Given the description of an element on the screen output the (x, y) to click on. 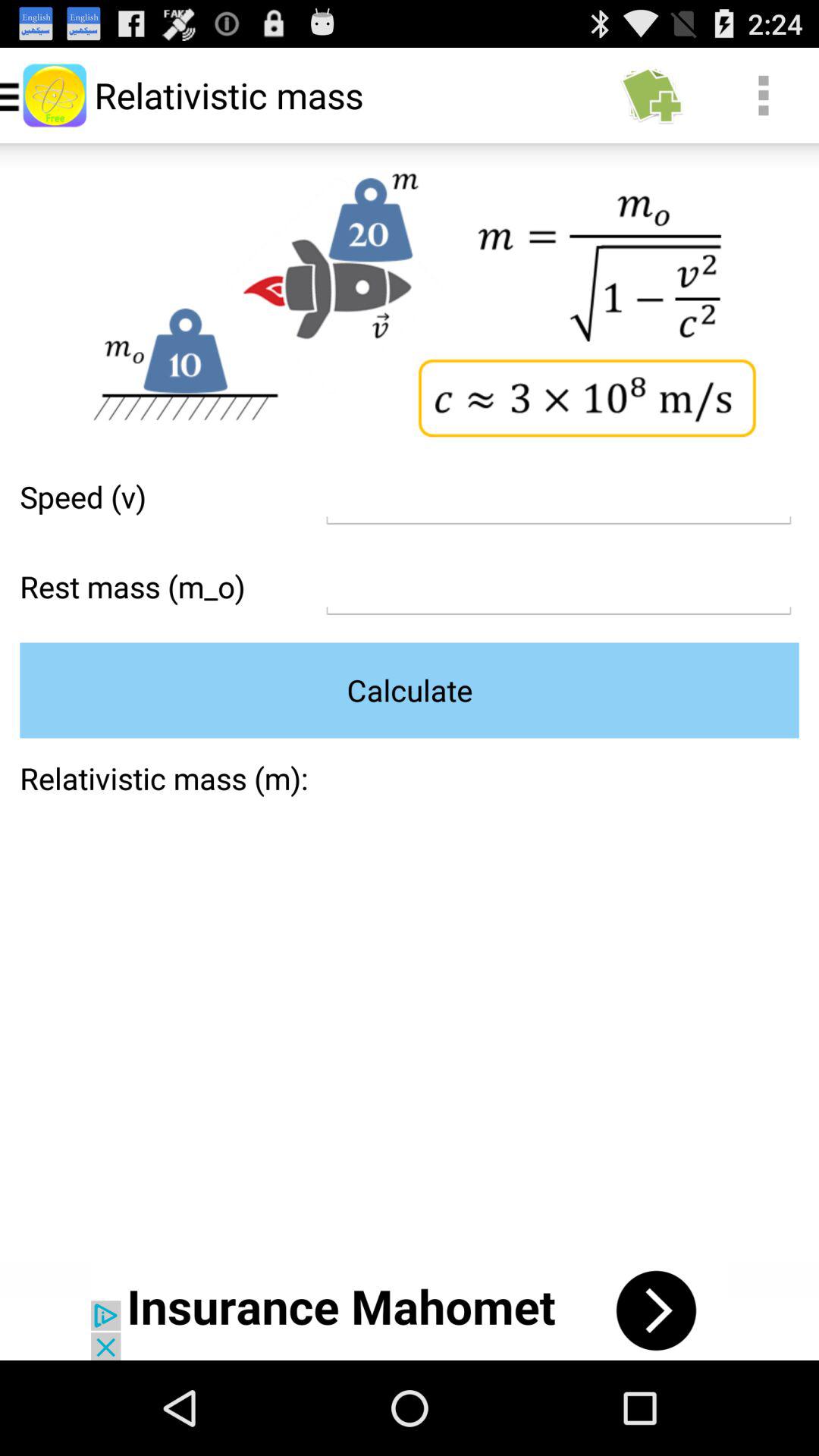
advertisement portion (409, 1310)
